Given the description of an element on the screen output the (x, y) to click on. 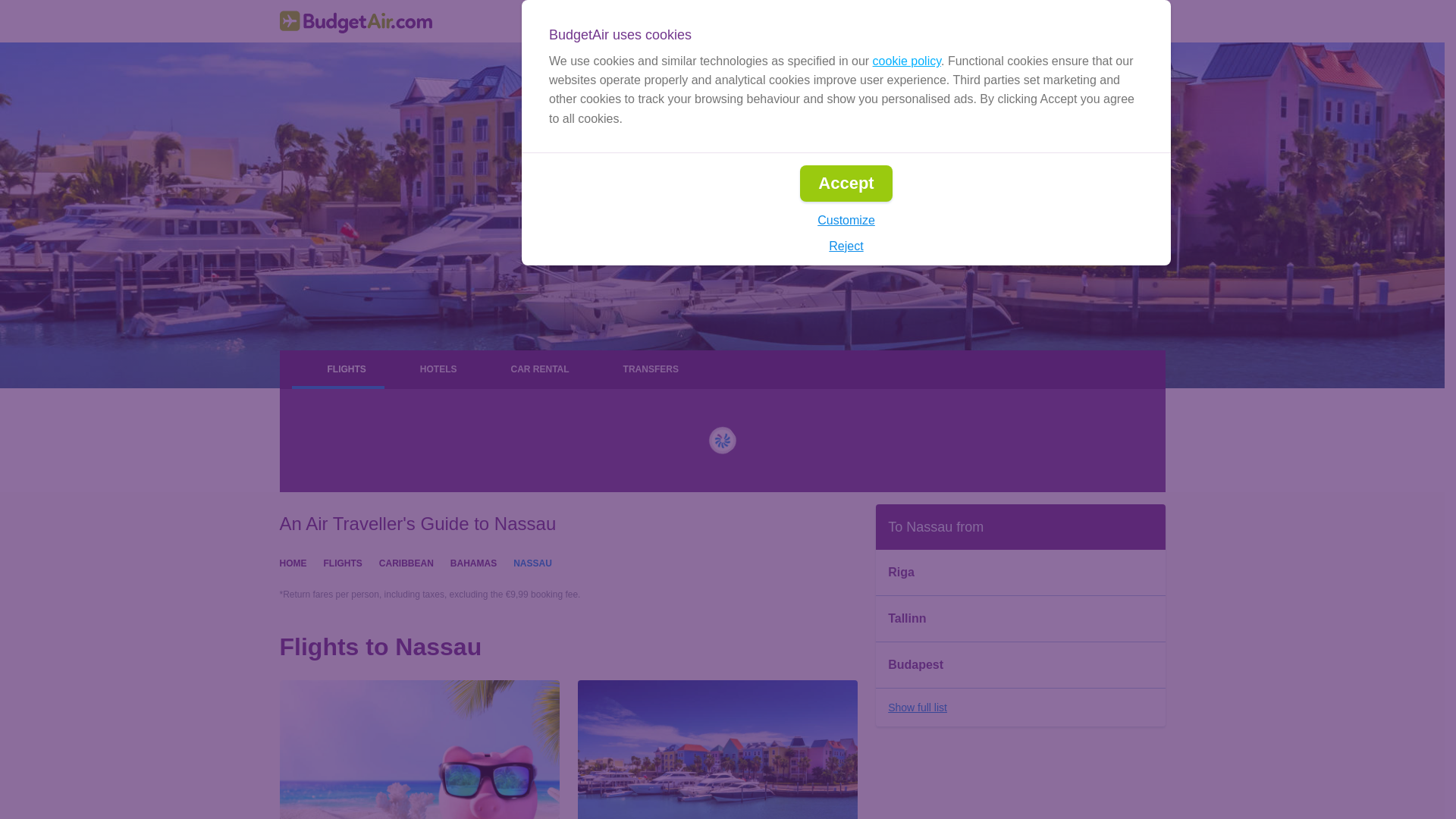
FLIGHTS (342, 562)
Accept (845, 183)
My Account (1116, 21)
HOME (292, 562)
cookie policy (906, 60)
CARIBBEAN (405, 562)
English (902, 21)
BAHAMAS (472, 562)
